Given the description of an element on the screen output the (x, y) to click on. 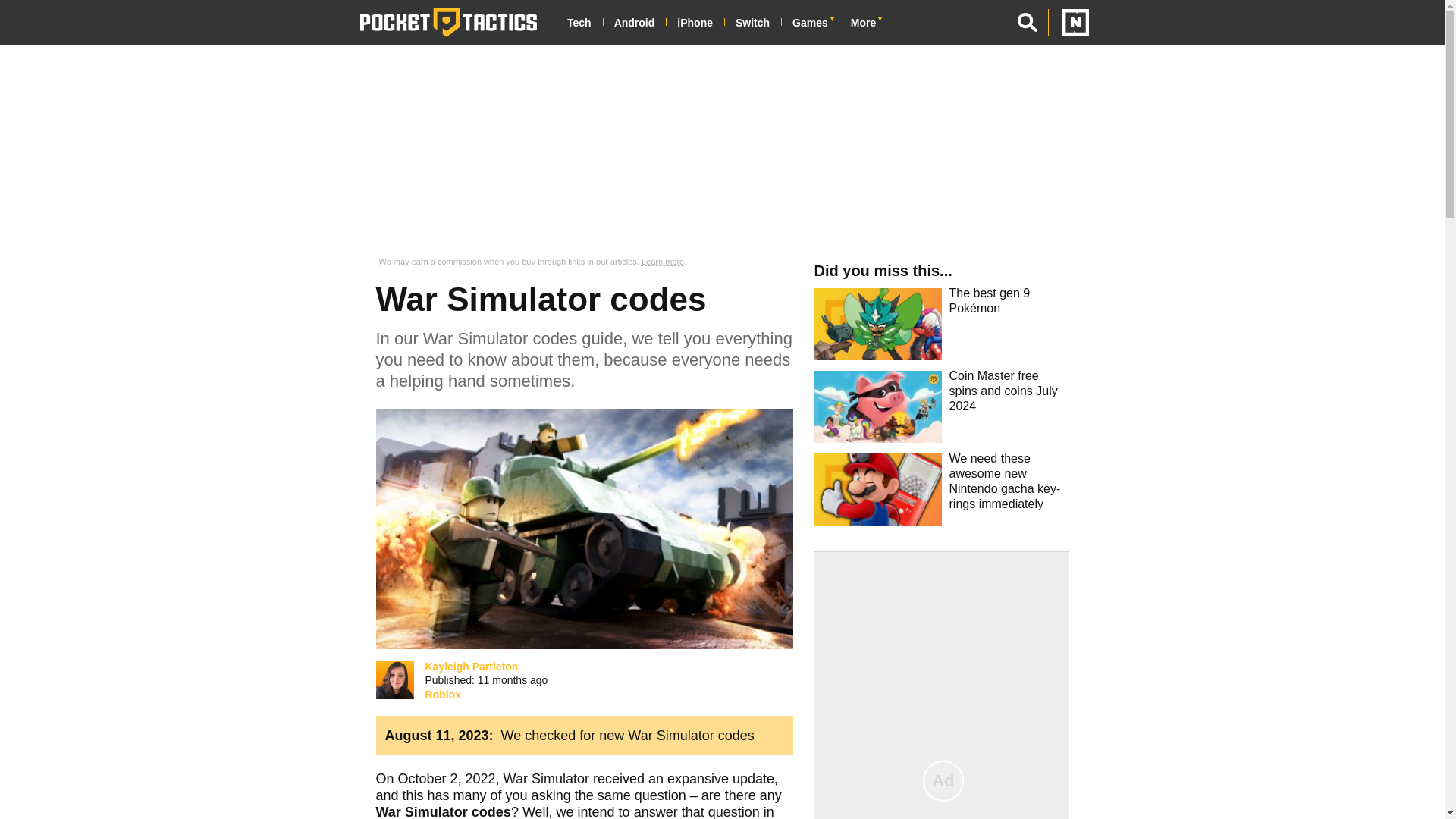
Network N Media (1068, 22)
Games (816, 22)
War Simulator codes (584, 529)
Switch (757, 22)
Android (640, 22)
Kayleigh Partleton (394, 679)
Kayleigh Partleton (471, 666)
Coin Master free spins and coins July 2024 (939, 410)
Learn more (663, 261)
Roblox (442, 694)
Pocket Tactics (448, 22)
iPhone (700, 22)
